Given the description of an element on the screen output the (x, y) to click on. 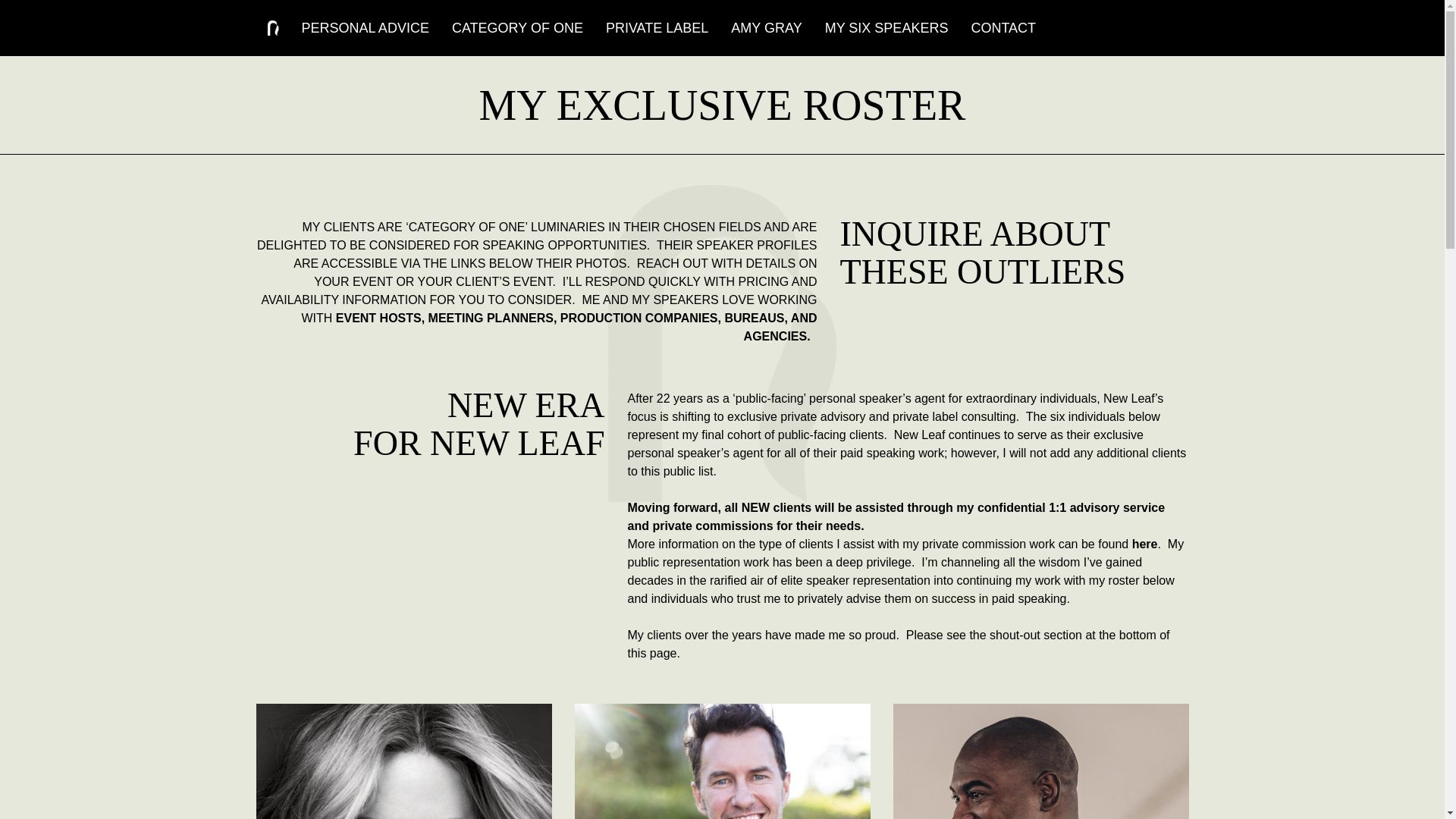
CONTACT (1003, 27)
PERSONAL ADVICE (365, 27)
PRIVATE LABEL (656, 27)
here (1144, 543)
AMY GRAY (766, 27)
MY SIX SPEAKERS (887, 27)
CATEGORY OF ONE (517, 27)
